Given the description of an element on the screen output the (x, y) to click on. 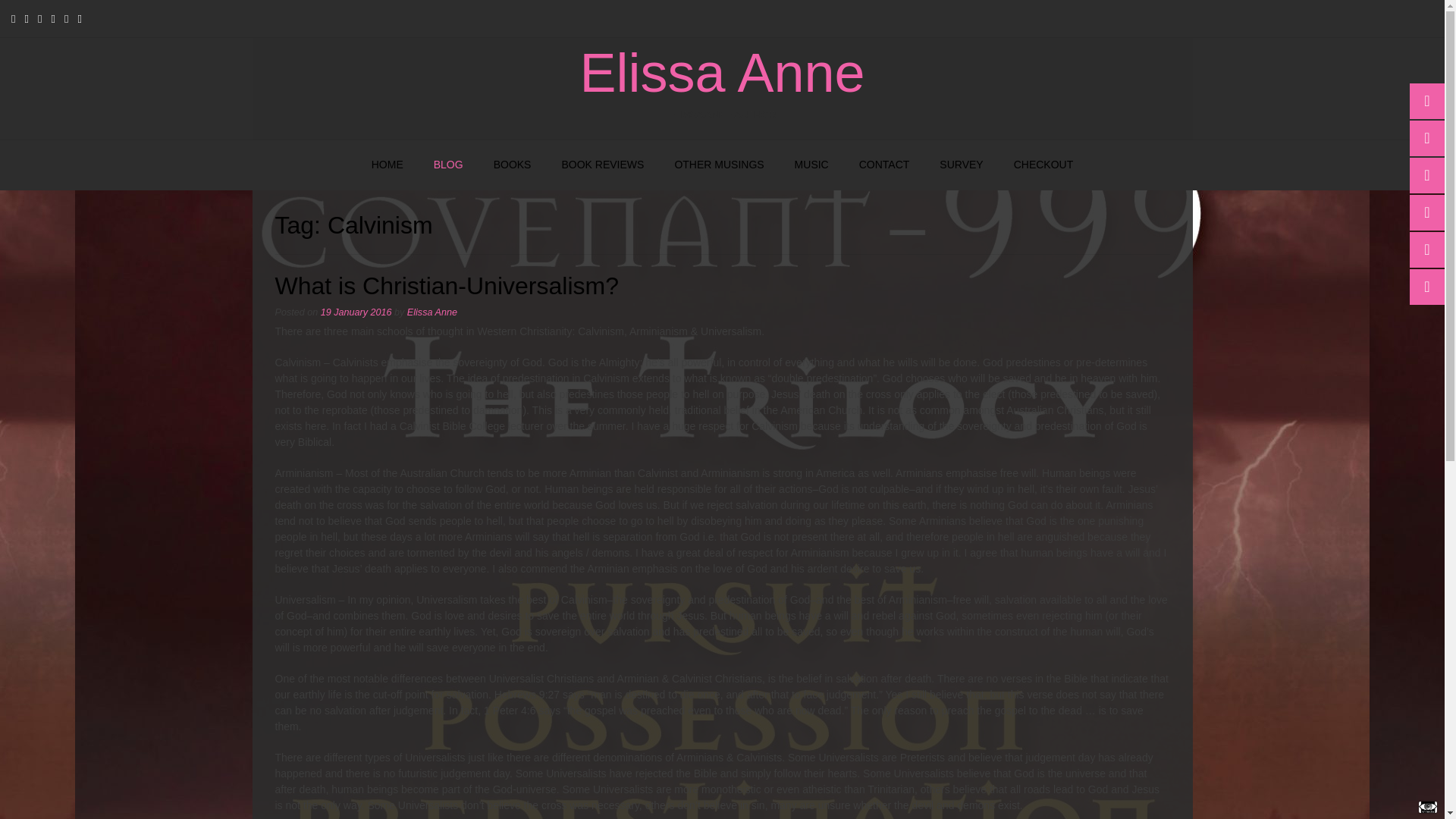
SURVEY (960, 165)
Elissa Anne (721, 72)
BOOK REVIEWS (602, 165)
HOME (387, 165)
What is Christian-Universalism? (446, 285)
CONTACT (884, 165)
CHECKOUT (1043, 165)
19 January 2016 (355, 312)
OTHER MUSINGS (718, 165)
BOOKS (513, 165)
Elissa Anne (721, 72)
Elissa Anne (432, 312)
BLOG (449, 165)
MUSIC (811, 165)
